Given the description of an element on the screen output the (x, y) to click on. 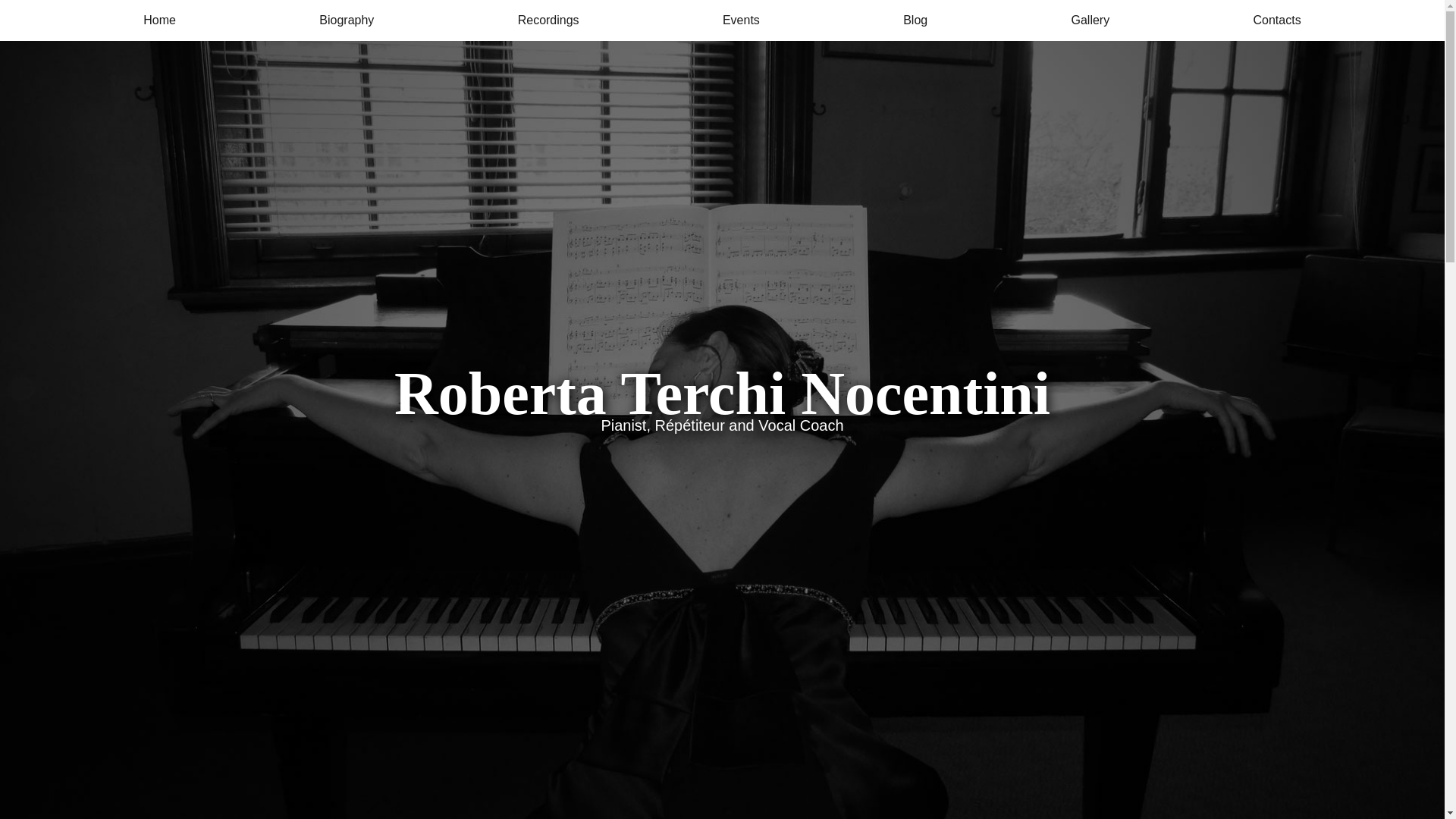
Home (159, 19)
Events (741, 19)
Contacts (1276, 19)
Gallery (1089, 19)
Recordings (548, 19)
Blog (914, 19)
Biography (346, 19)
